Given the description of an element on the screen output the (x, y) to click on. 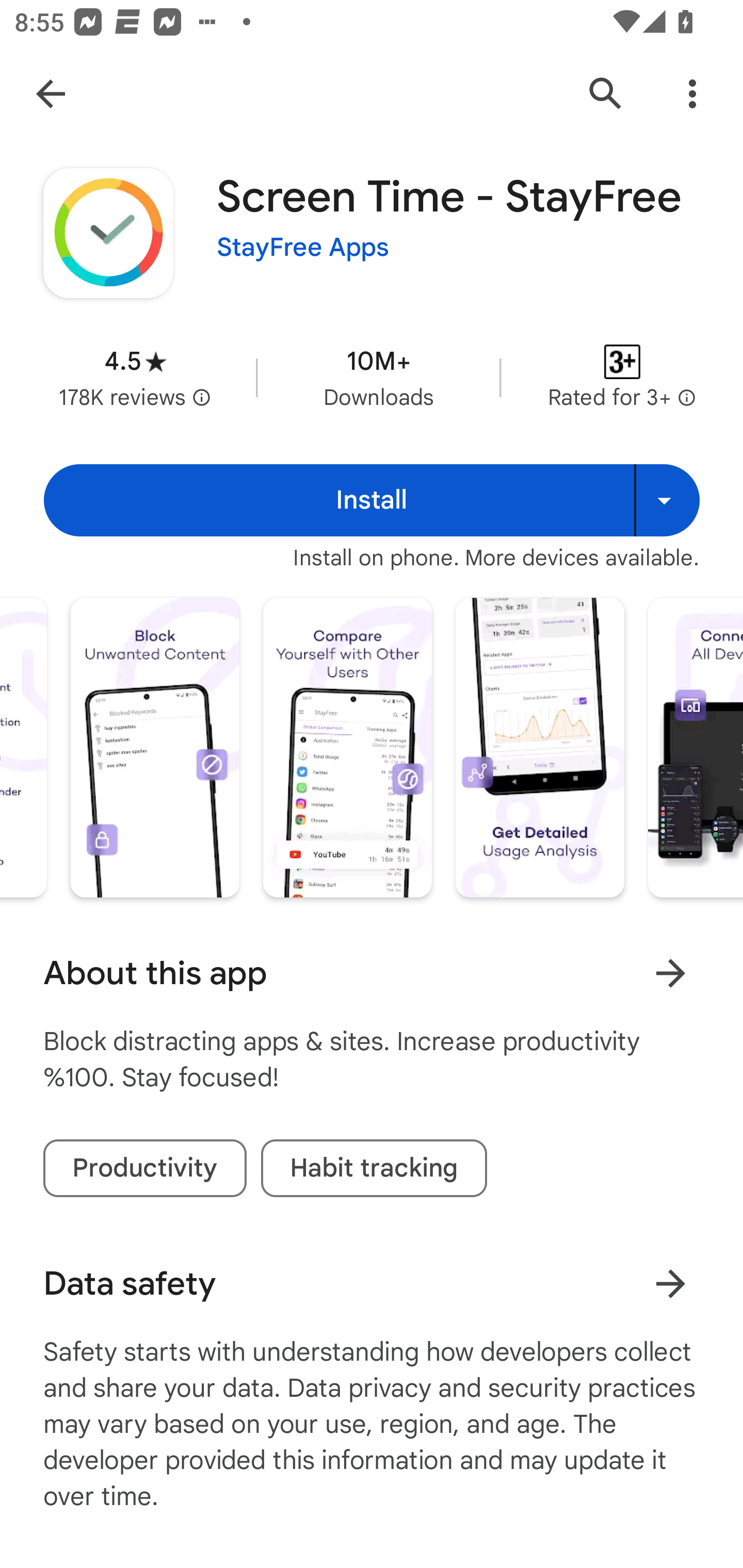
Navigate up (50, 93)
Search Google Play (605, 93)
More Options (692, 93)
StayFree Apps (302, 247)
Average rating 4.5 stars in 178 thousand reviews (135, 377)
Content rating Rated for 3+ (622, 377)
Install Install Install on more devices (371, 500)
Install on more devices (667, 500)
Screenshot "4" of "7" (154, 746)
Screenshot "5" of "7" (347, 746)
Screenshot "6" of "7" (539, 746)
Screenshot "7" of "7" (695, 746)
About this app Learn more About this app (371, 972)
Learn more About this app (670, 972)
Productivity tag (144, 1168)
Habit tracking tag (373, 1168)
Data safety Learn more about data safety (371, 1284)
Learn more about data safety (670, 1283)
